Given the description of an element on the screen output the (x, y) to click on. 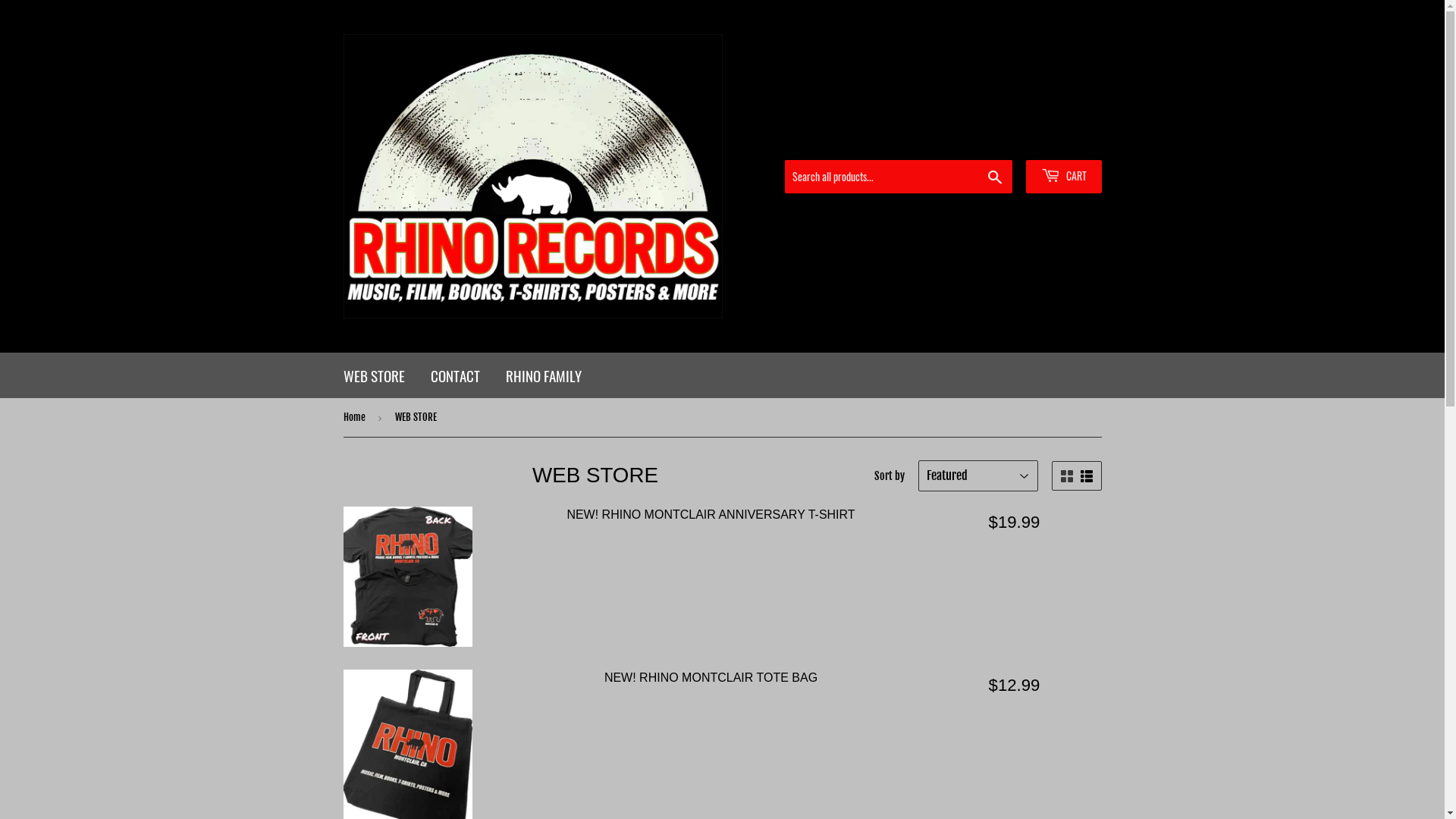
List view Element type: hover (1085, 476)
Search Element type: text (995, 176)
RHINO FAMILY Element type: text (543, 375)
Grid view Element type: hover (1066, 476)
CART Element type: text (1063, 175)
CONTACT Element type: text (454, 375)
WEB STORE Element type: text (374, 375)
Home Element type: text (356, 417)
